Given the description of an element on the screen output the (x, y) to click on. 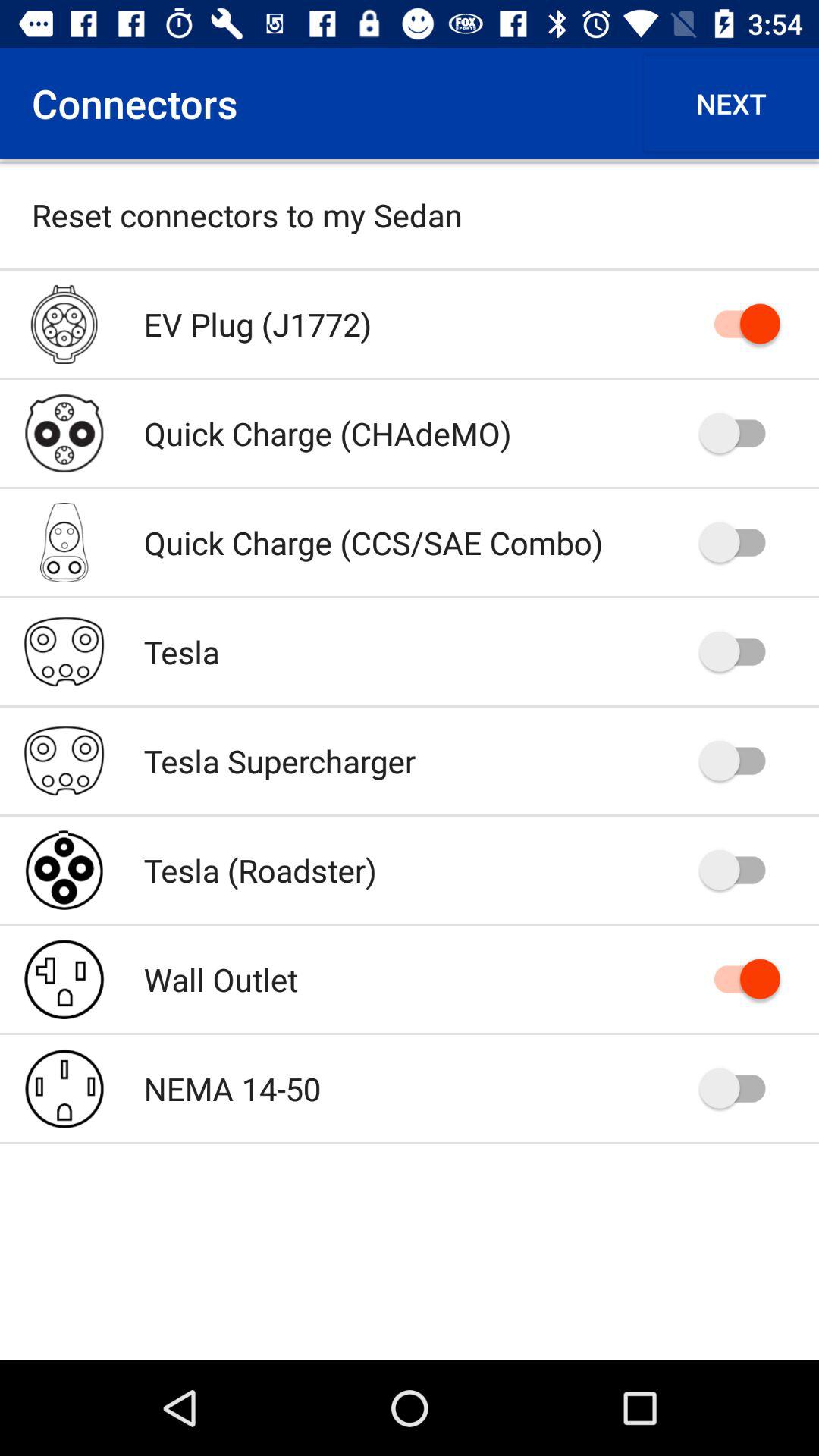
turn on the item to the right of the connectors app (731, 103)
